Given the description of an element on the screen output the (x, y) to click on. 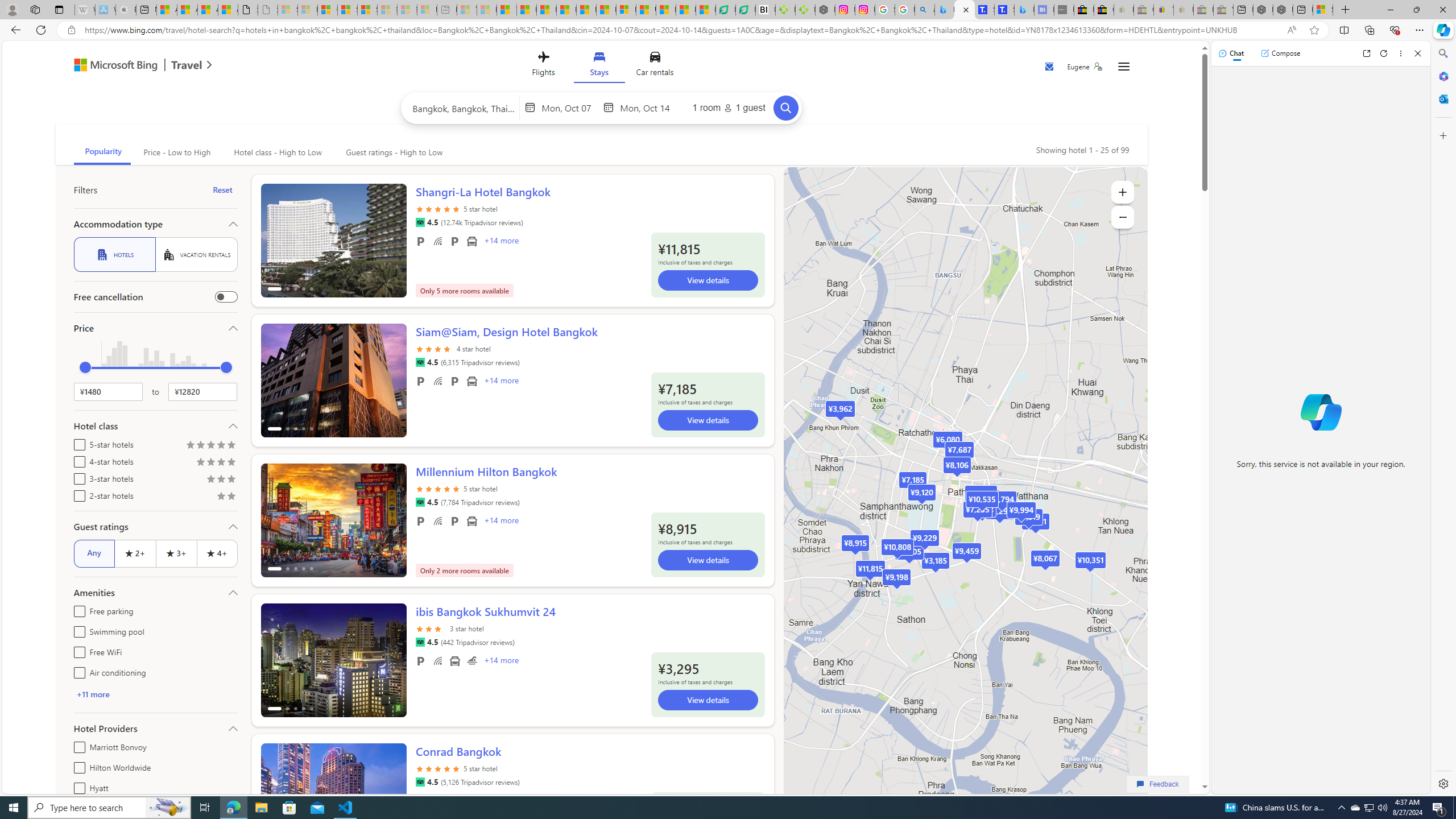
Eugene (1084, 66)
Top Stories - MSN - Sleeping (466, 9)
Microsoft Bing Travel - Shangri-La Hotel Bangkok (1024, 9)
Sign in to your Microsoft account (1322, 9)
Class: msft-travel-logo (186, 64)
Valet parking (454, 520)
Microsoft Bing Travel - Flights from Hong Kong to Bangkok (944, 9)
Safety in Our Products - Google Safety Center (884, 9)
Guest ratings (154, 526)
